Given the description of an element on the screen output the (x, y) to click on. 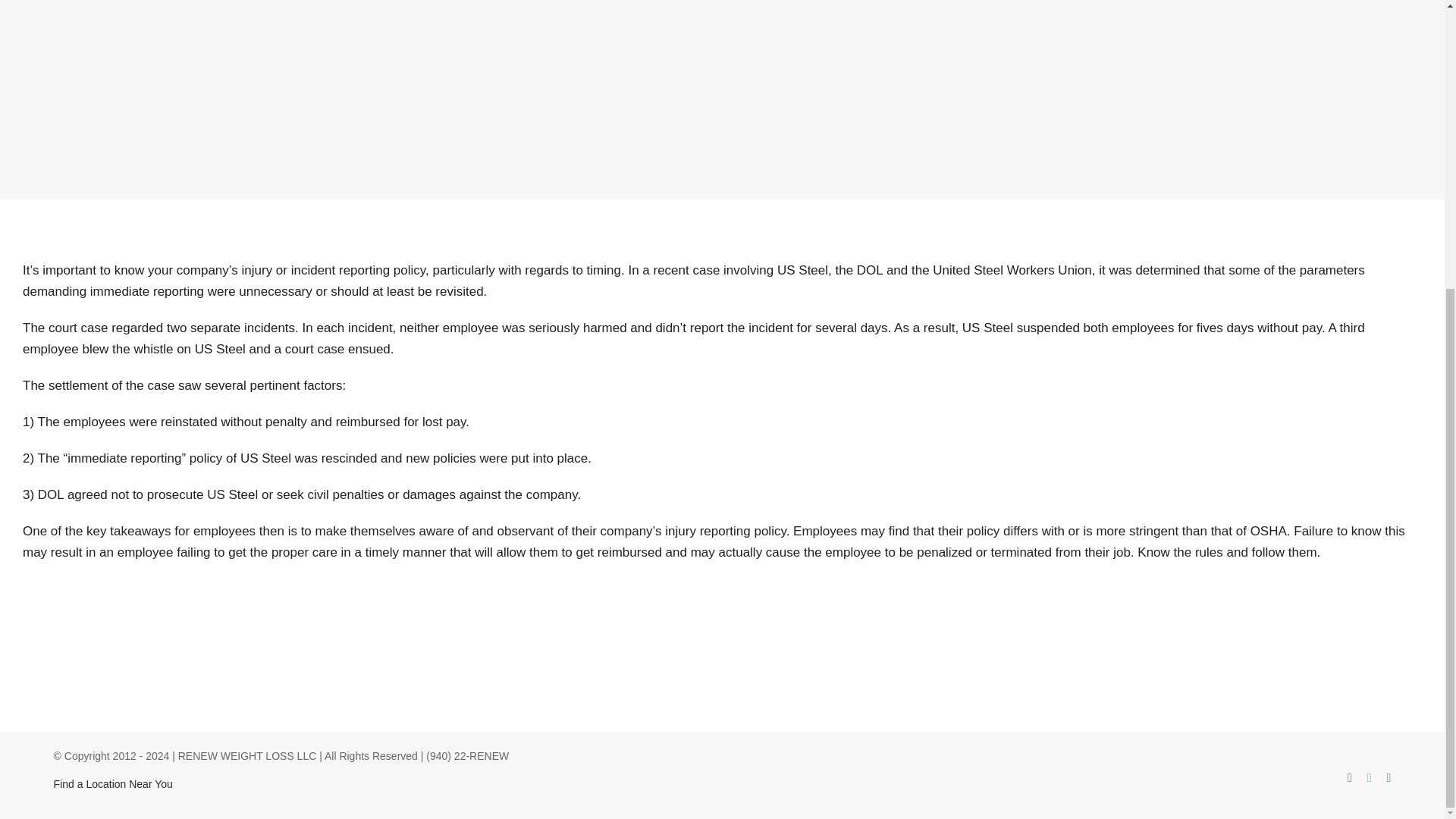
Instagram (1389, 777)
Twitter (1369, 777)
Find a Location Near You (113, 784)
Facebook (1350, 777)
